Given the description of an element on the screen output the (x, y) to click on. 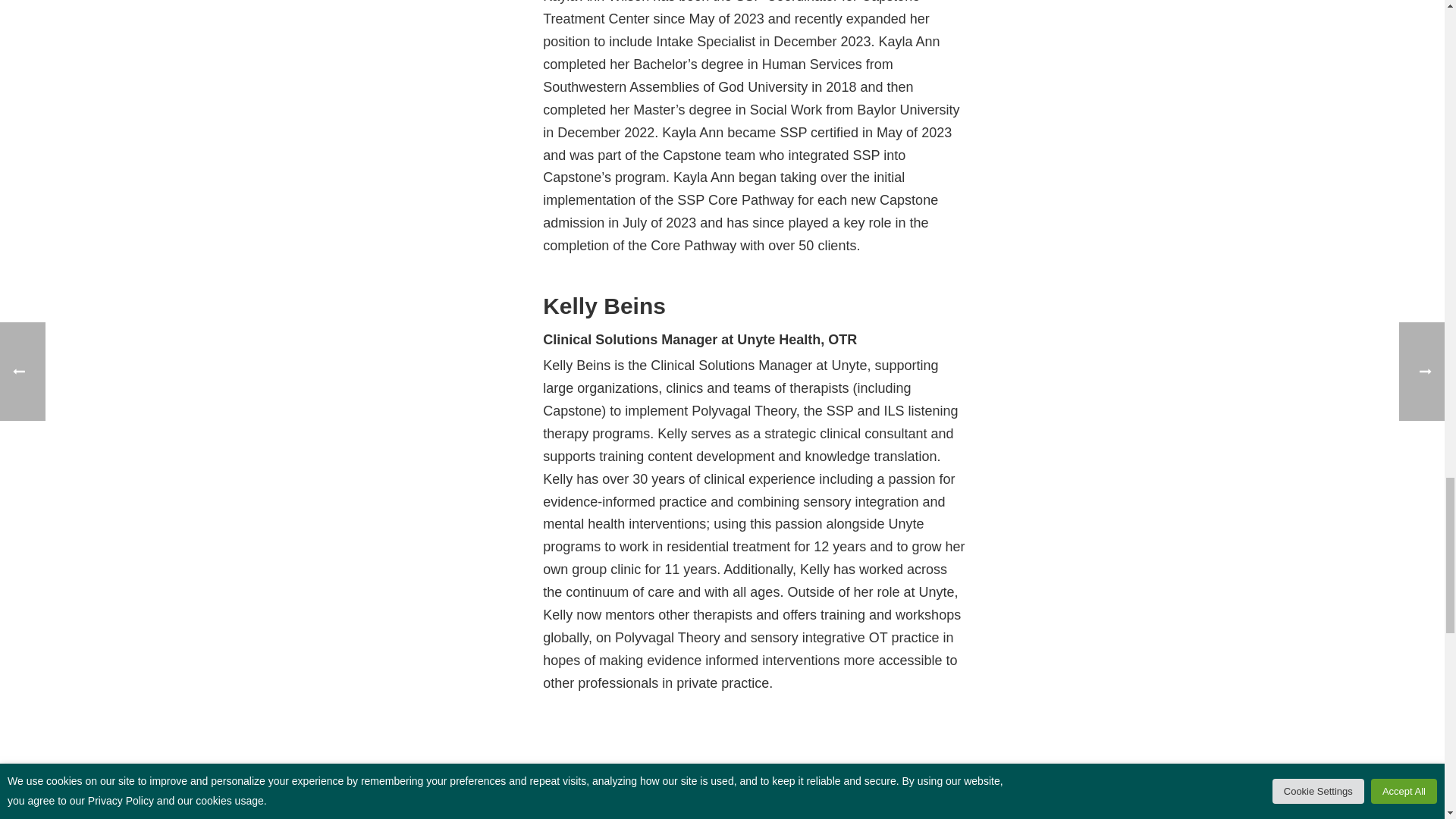
Live Webinar: How Anxiety Can Manifest in the Nervous System (723, 814)
Using Music for Healing (436, 814)
